Given the description of an element on the screen output the (x, y) to click on. 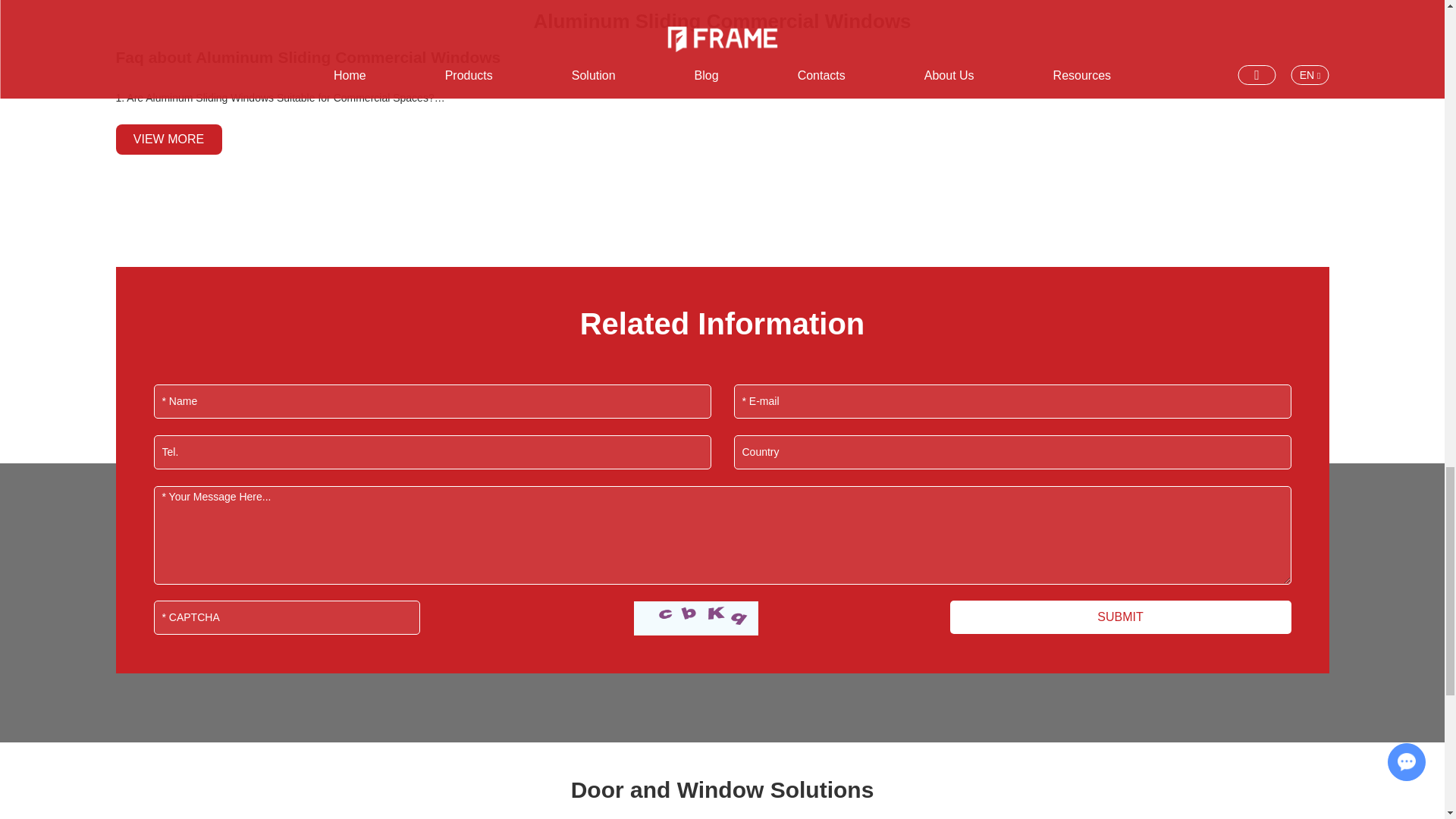
SUBMIT (1119, 616)
